Given the description of an element on the screen output the (x, y) to click on. 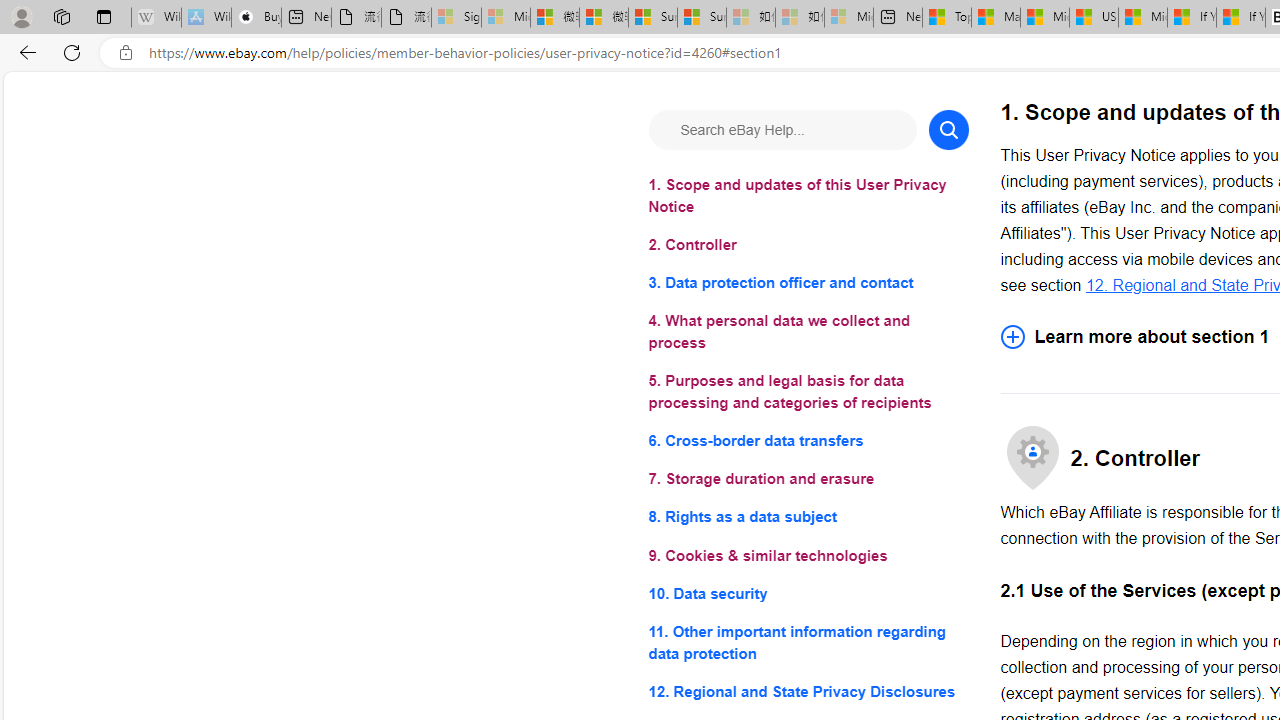
2. Controller (807, 245)
8. Rights as a data subject (807, 517)
10. Data security (807, 592)
10. Data security (807, 592)
11. Other important information regarding data protection (807, 642)
3. Data protection officer and contact (807, 283)
6. Cross-border data transfers (807, 440)
US Heat Deaths Soared To Record High Last Year (1093, 17)
6. Cross-border data transfers (807, 440)
